Given the description of an element on the screen output the (x, y) to click on. 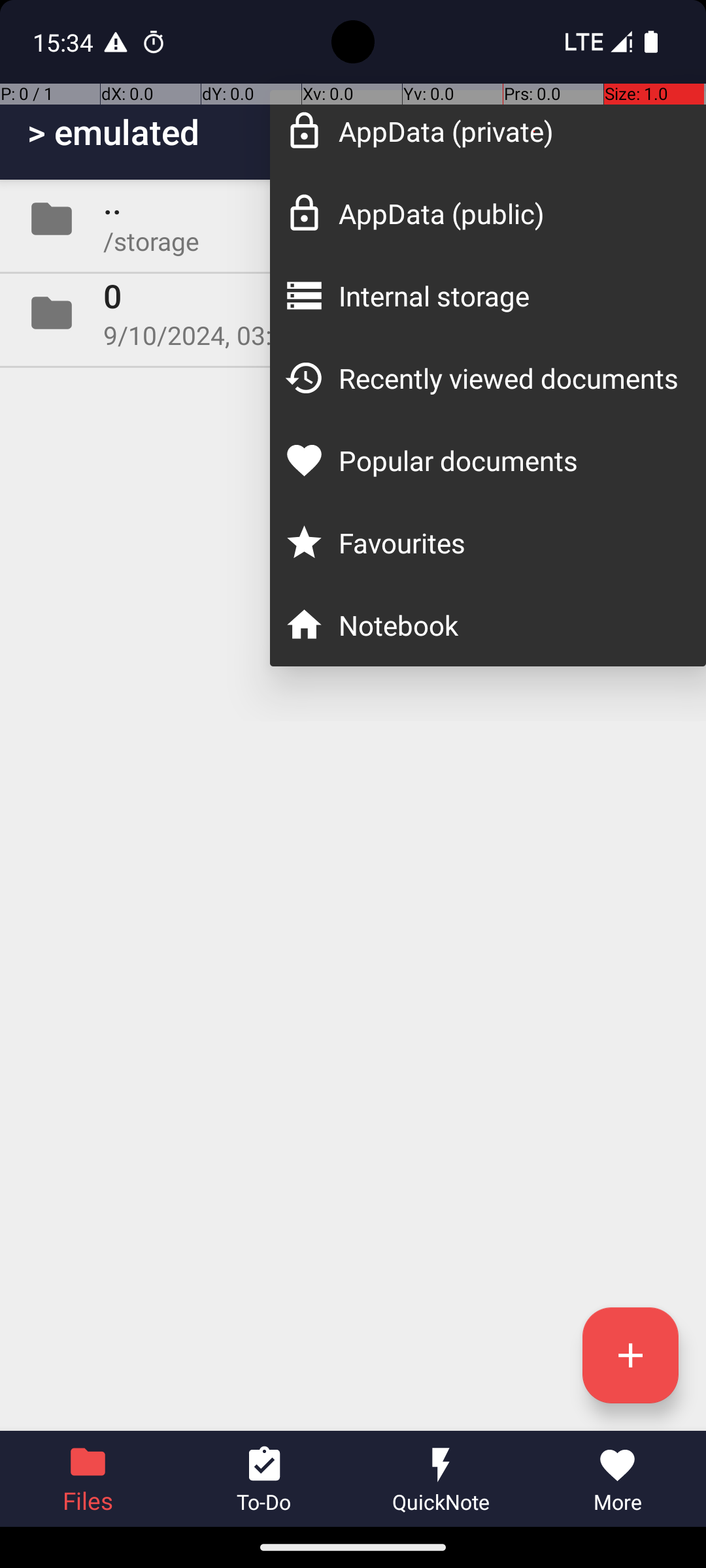
AppData (private) Element type: android.widget.TextView (508, 130)
AppData (public) Element type: android.widget.TextView (508, 212)
Internal storage Element type: android.widget.TextView (508, 295)
Recently viewed documents Element type: android.widget.TextView (508, 377)
Popular documents Element type: android.widget.TextView (508, 459)
Favourites Element type: android.widget.TextView (508, 542)
Notebook Element type: android.widget.TextView (508, 624)
